Given the description of an element on the screen output the (x, y) to click on. 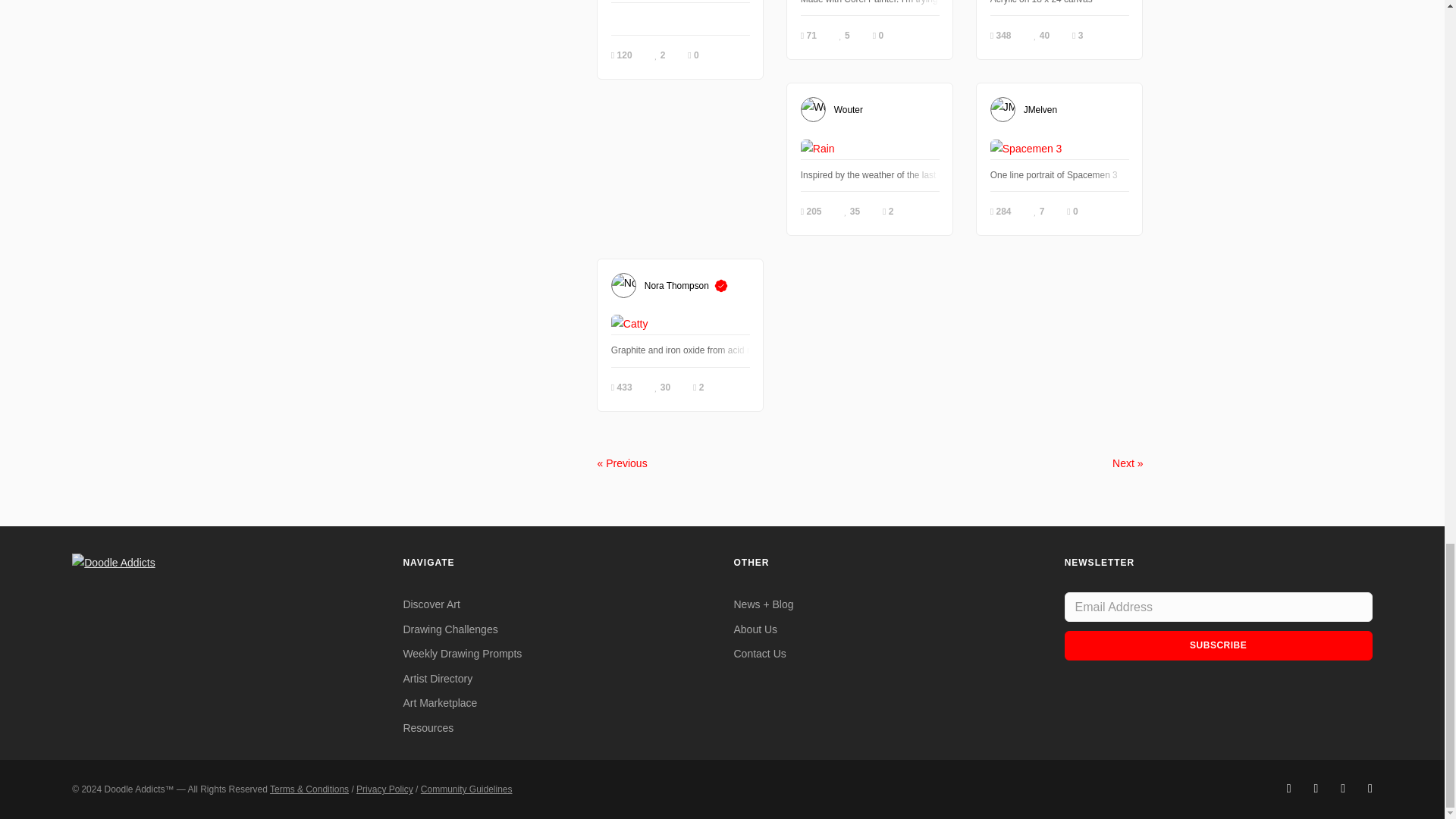
Next (1127, 463)
Previous (621, 463)
